Given the description of an element on the screen output the (x, y) to click on. 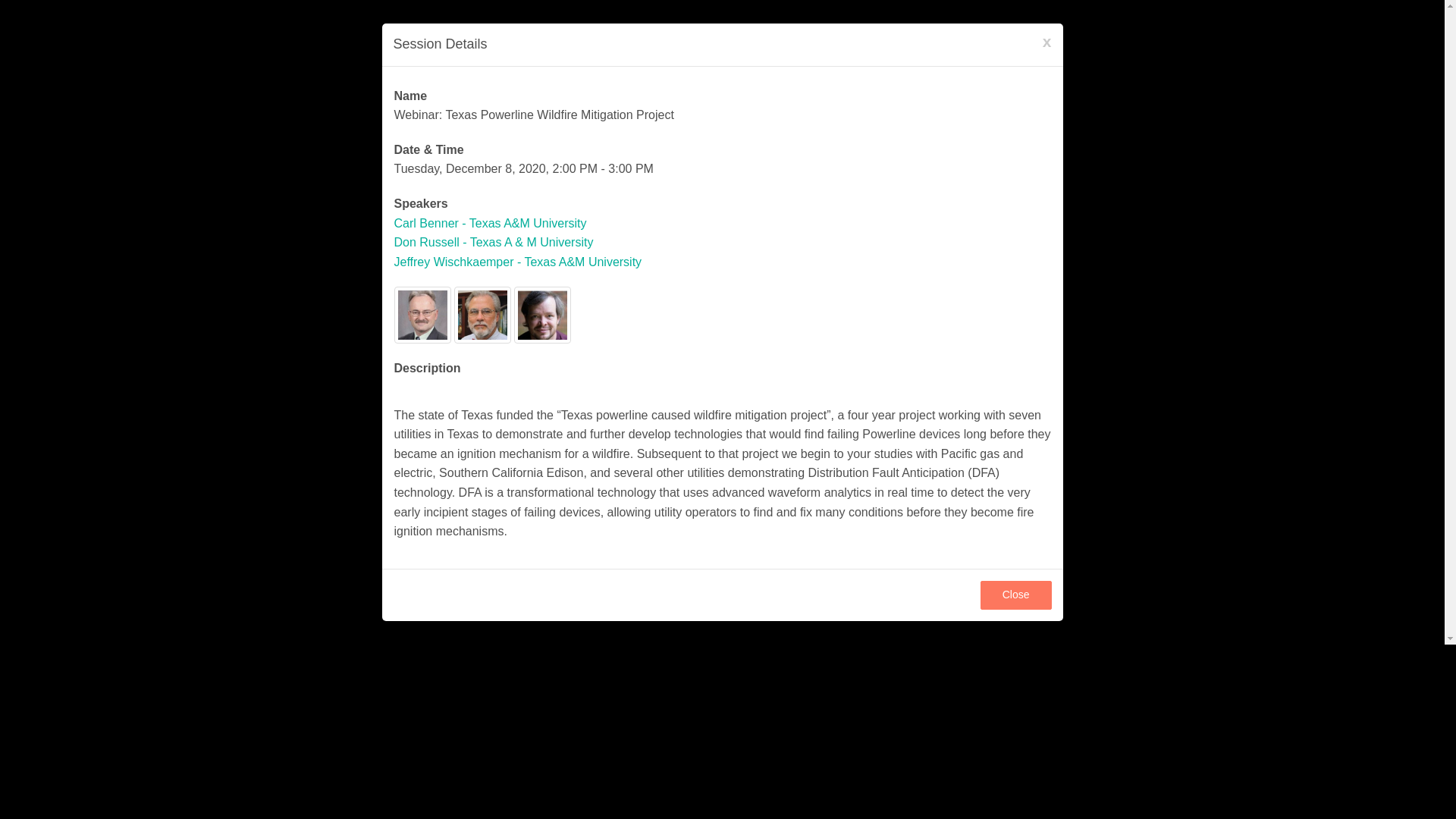
Close (1015, 594)
Speaker Details (494, 241)
Speaker Details (490, 223)
Speaker Details (518, 261)
